Given the description of an element on the screen output the (x, y) to click on. 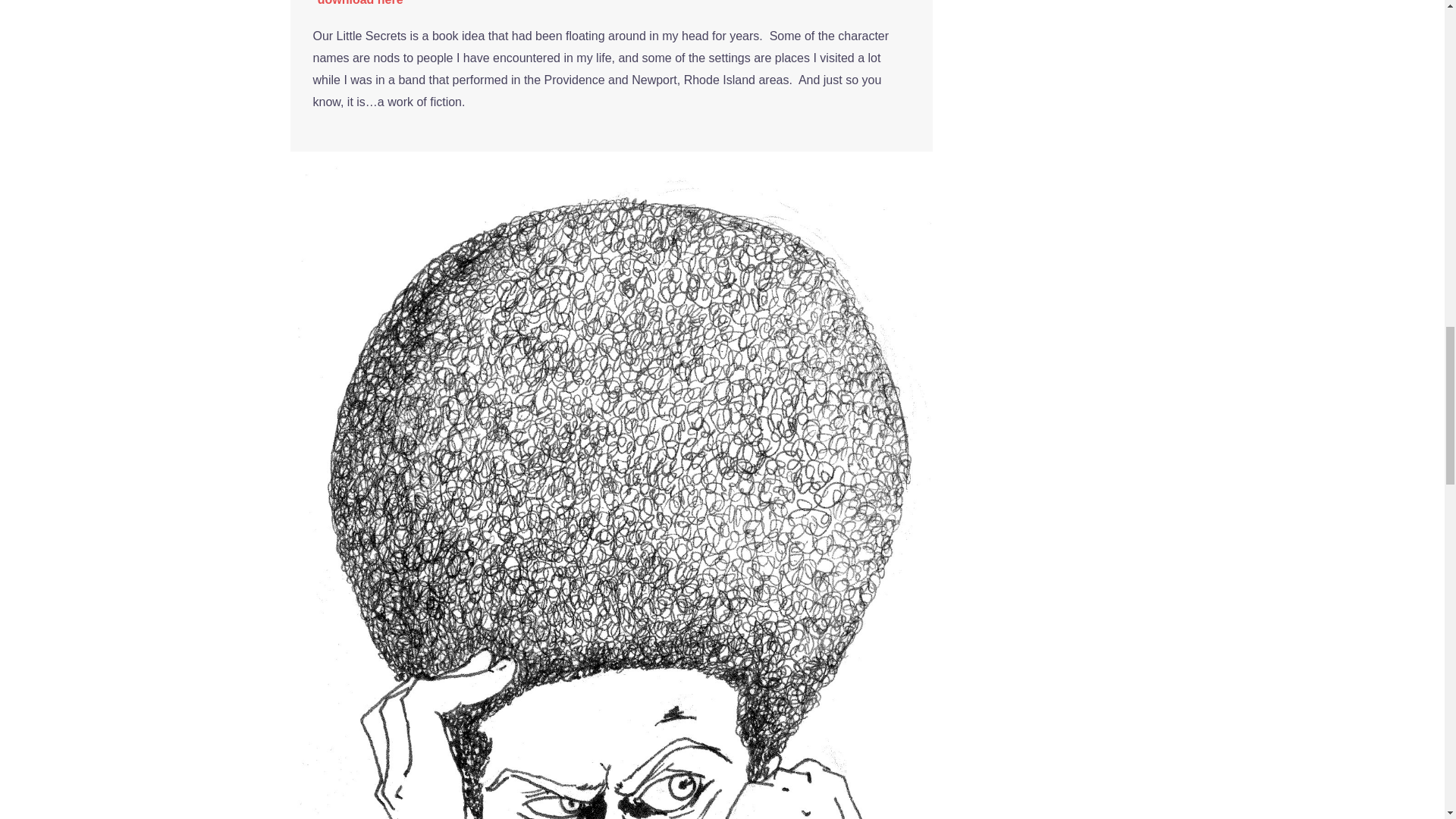
SAD SONG (611, 642)
